Given the description of an element on the screen output the (x, y) to click on. 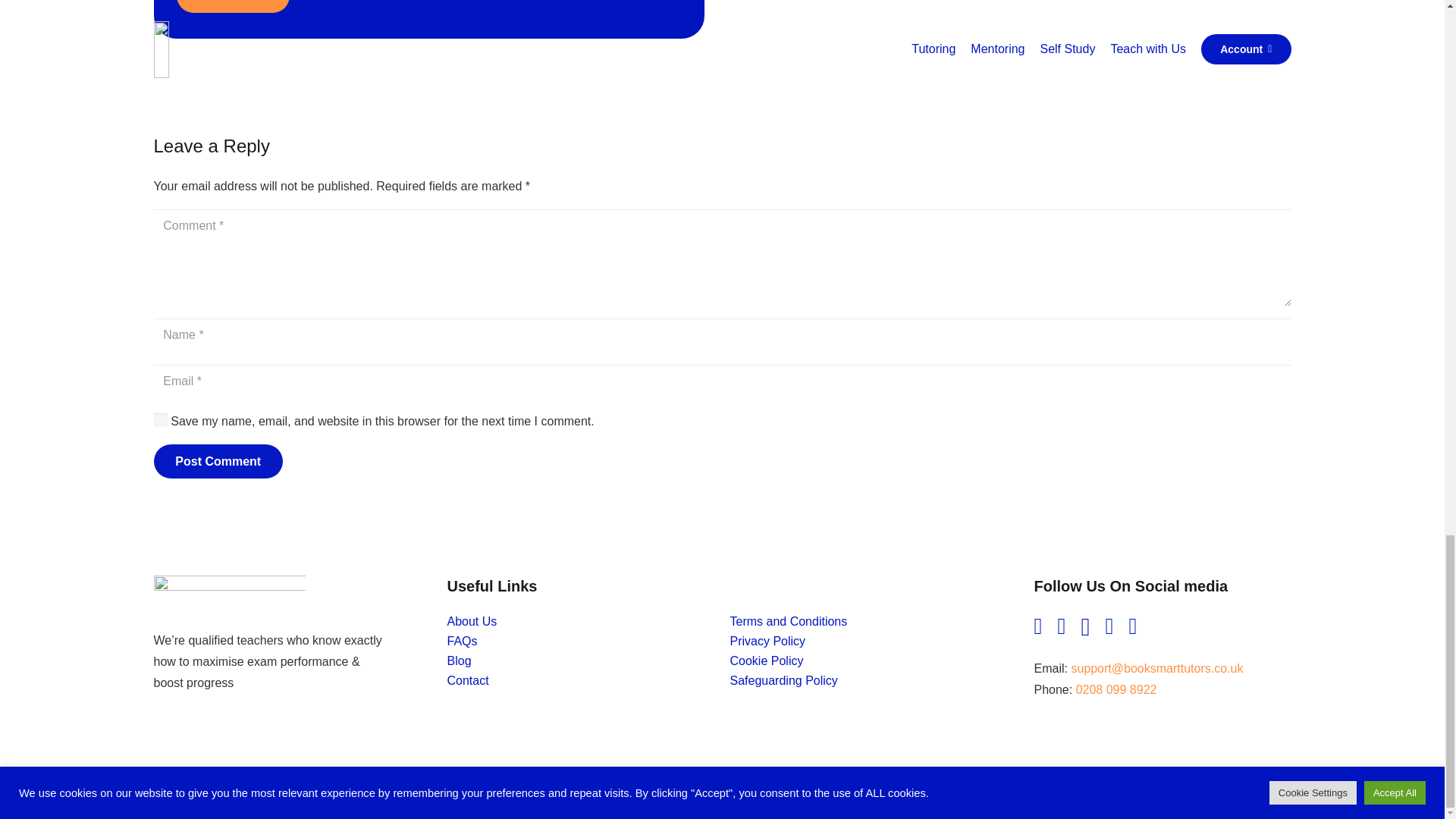
YouTube (1037, 626)
Privacy Policy (767, 640)
Terms and Conditions (788, 621)
Blog (458, 660)
1 (159, 419)
BOOK NOW (232, 6)
About Us (471, 621)
Safeguarding Policy (783, 680)
Contact (467, 680)
Twitter (1109, 626)
Facebook (1061, 626)
Post Comment (217, 461)
Cookie Policy (766, 660)
0208 099 8922 (1116, 689)
Instagram (1084, 627)
